Given the description of an element on the screen output the (x, y) to click on. 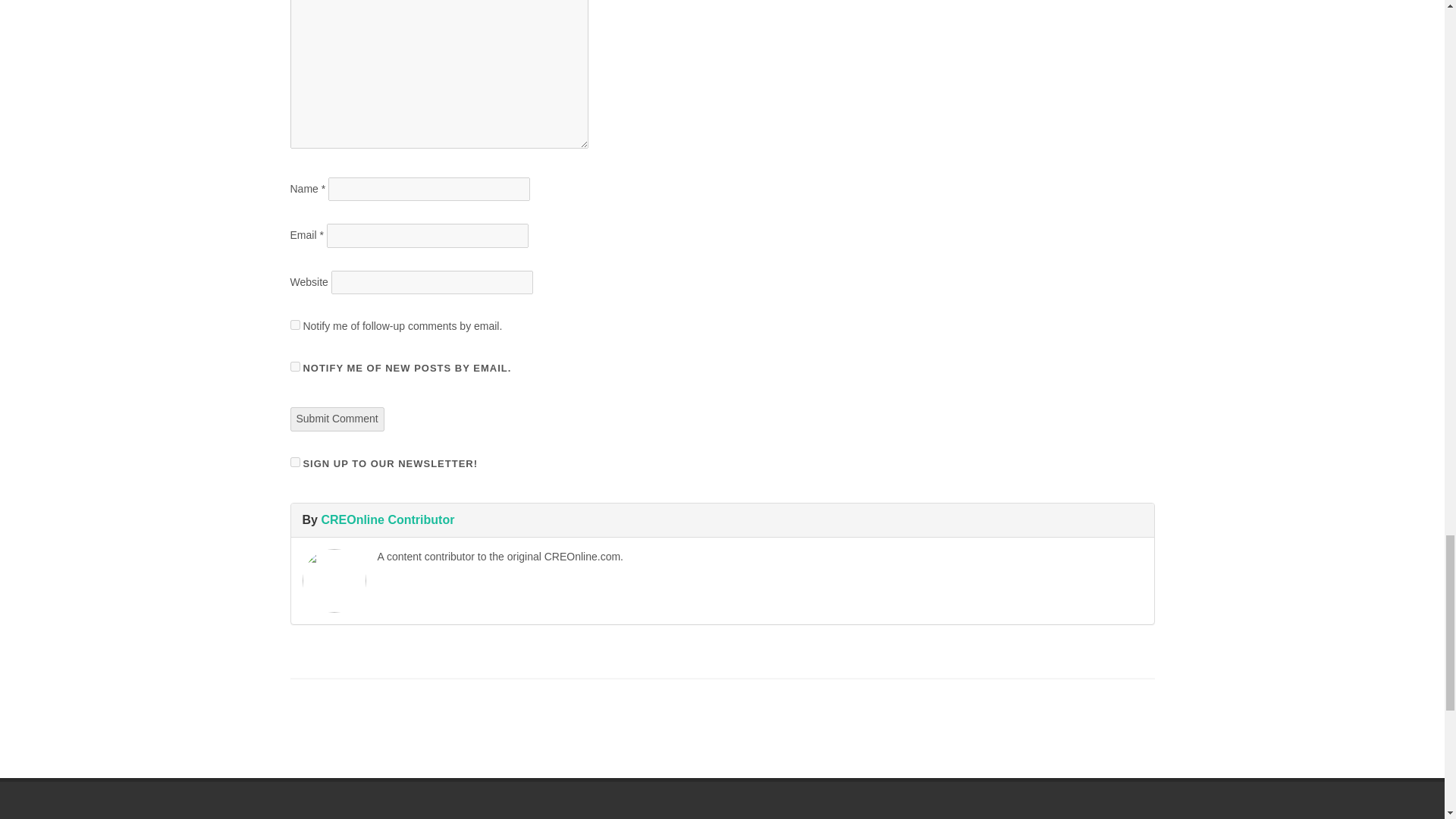
subscribe (294, 366)
subscribe (294, 325)
1 (294, 461)
Submit Comment (336, 418)
Submit Comment (336, 418)
